Given the description of an element on the screen output the (x, y) to click on. 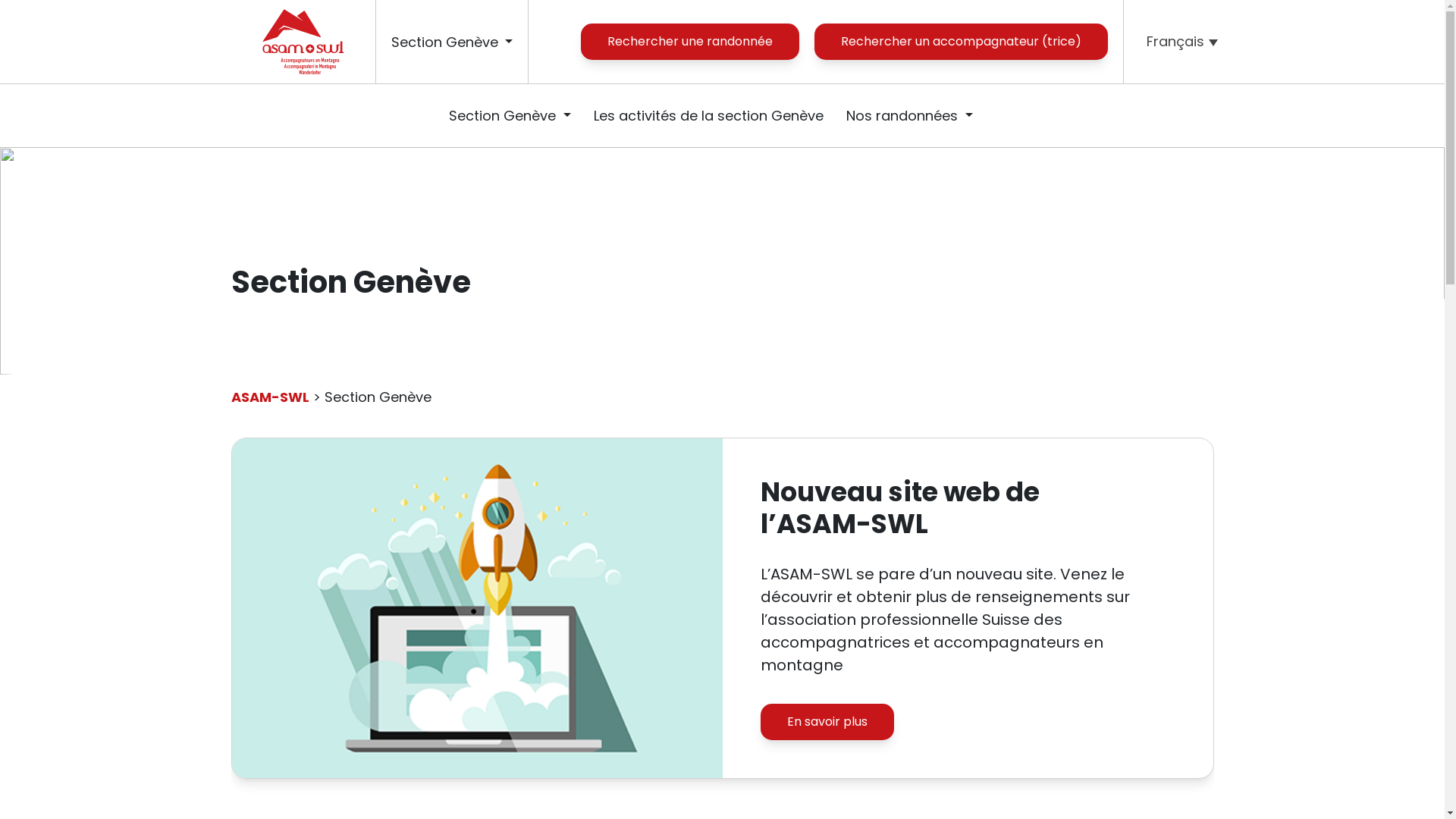
ASAM-SWL Element type: text (269, 396)
En savoir plus Element type: text (826, 721)
Rechercher un accompagnateur (trice) Element type: text (960, 41)
ASAM-SWL Element type: hover (302, 41)
